Given the description of an element on the screen output the (x, y) to click on. 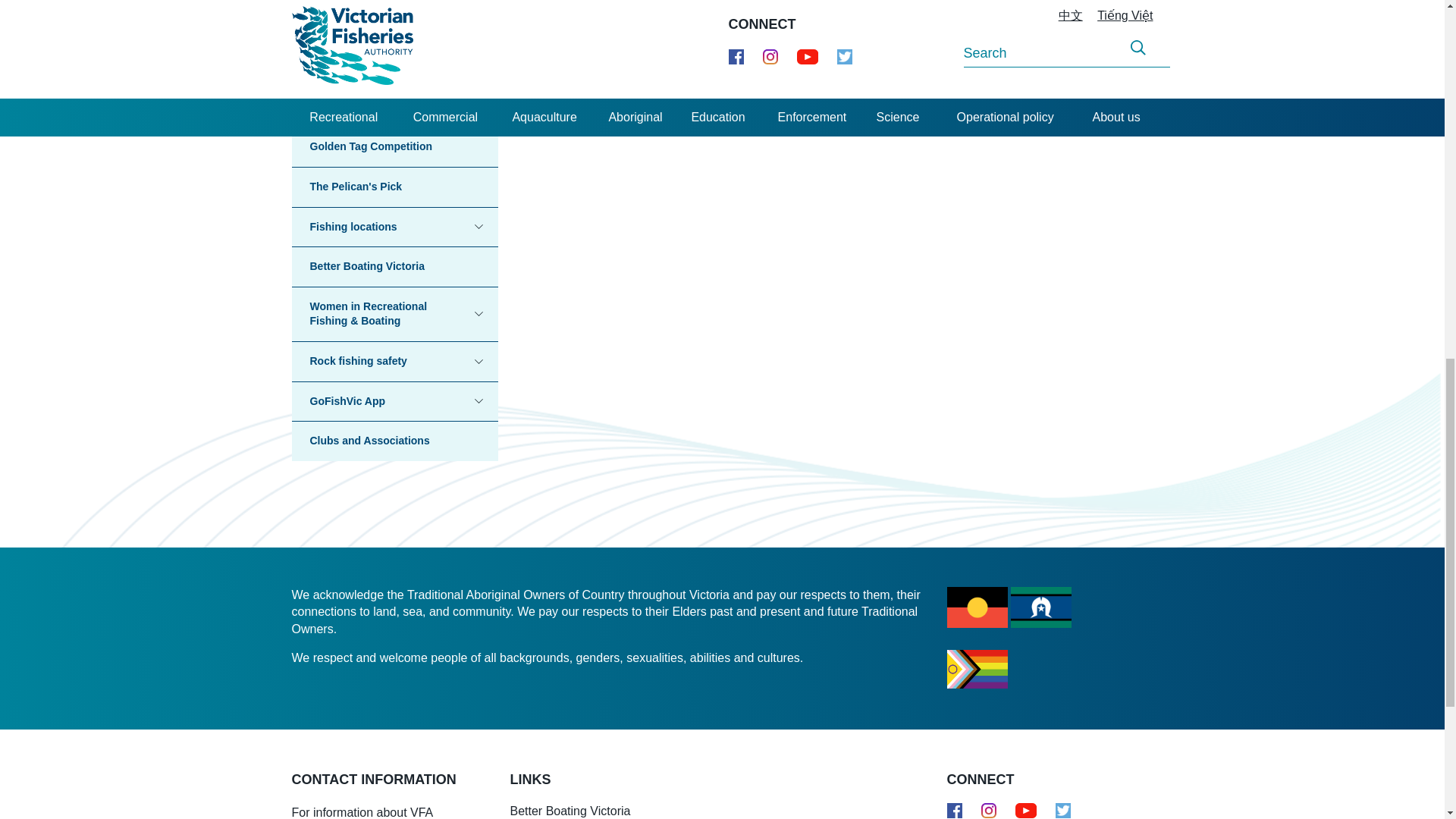
Facebook (953, 810)
Twitter (1062, 813)
Instagram (988, 810)
YouTube (1024, 810)
